Given the description of an element on the screen output the (x, y) to click on. 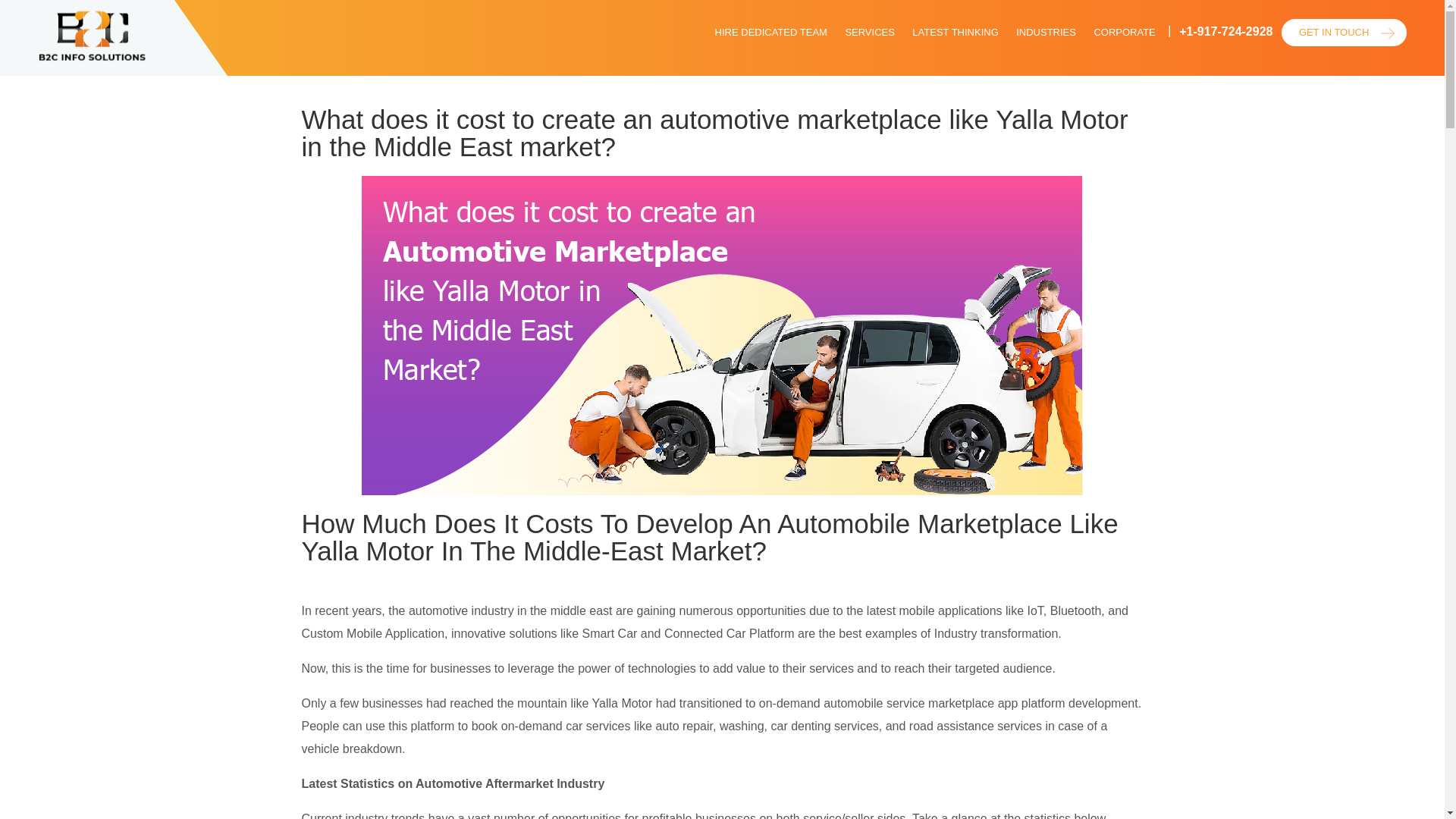
HIRE DEDICATED TEAM (785, 44)
LATEST THINKING (958, 44)
INDUSTRIES (1048, 44)
SERVICES (874, 44)
